Given the description of an element on the screen output the (x, y) to click on. 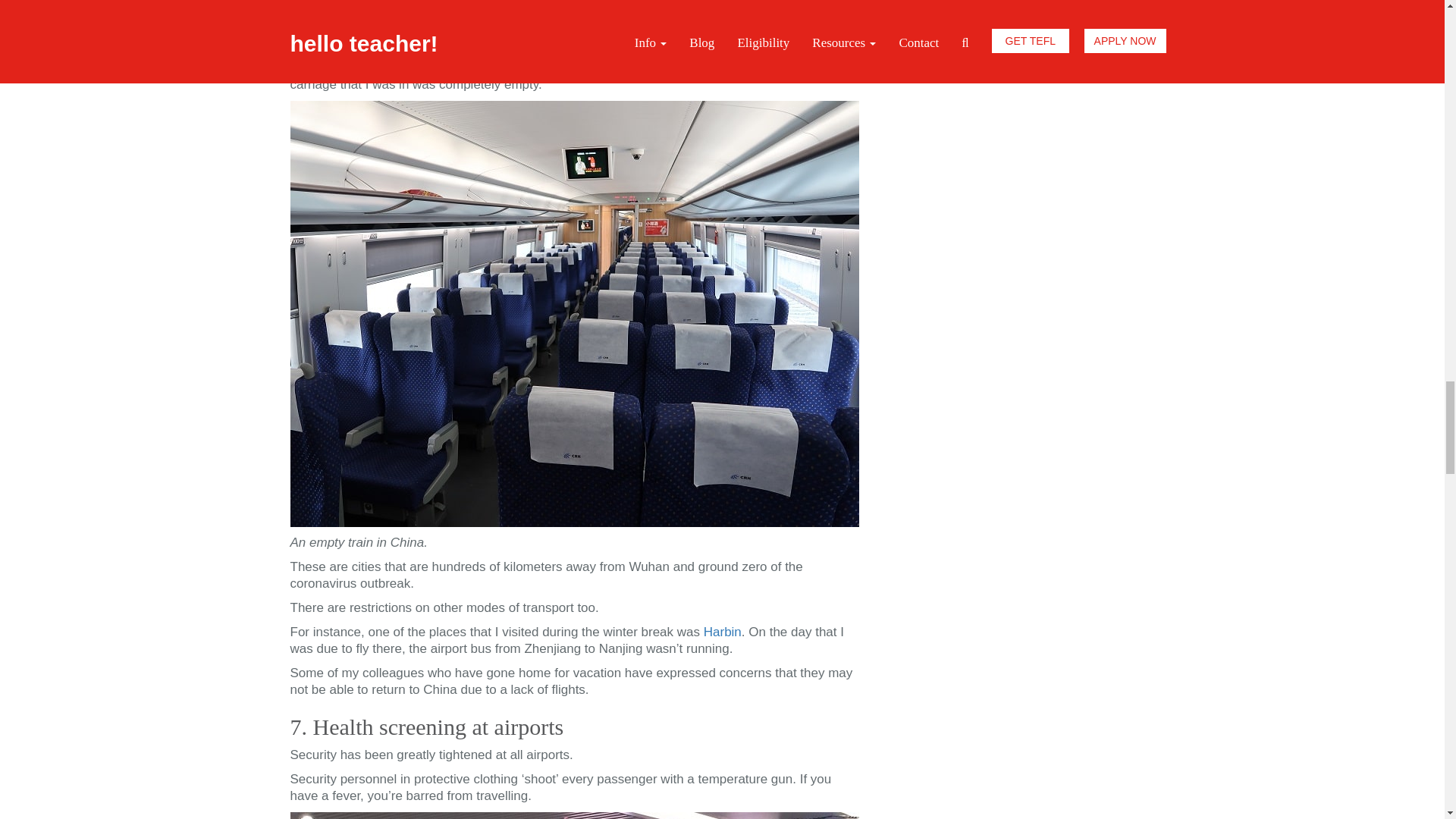
Harbin (722, 631)
Hangzhou (764, 67)
